Given the description of an element on the screen output the (x, y) to click on. 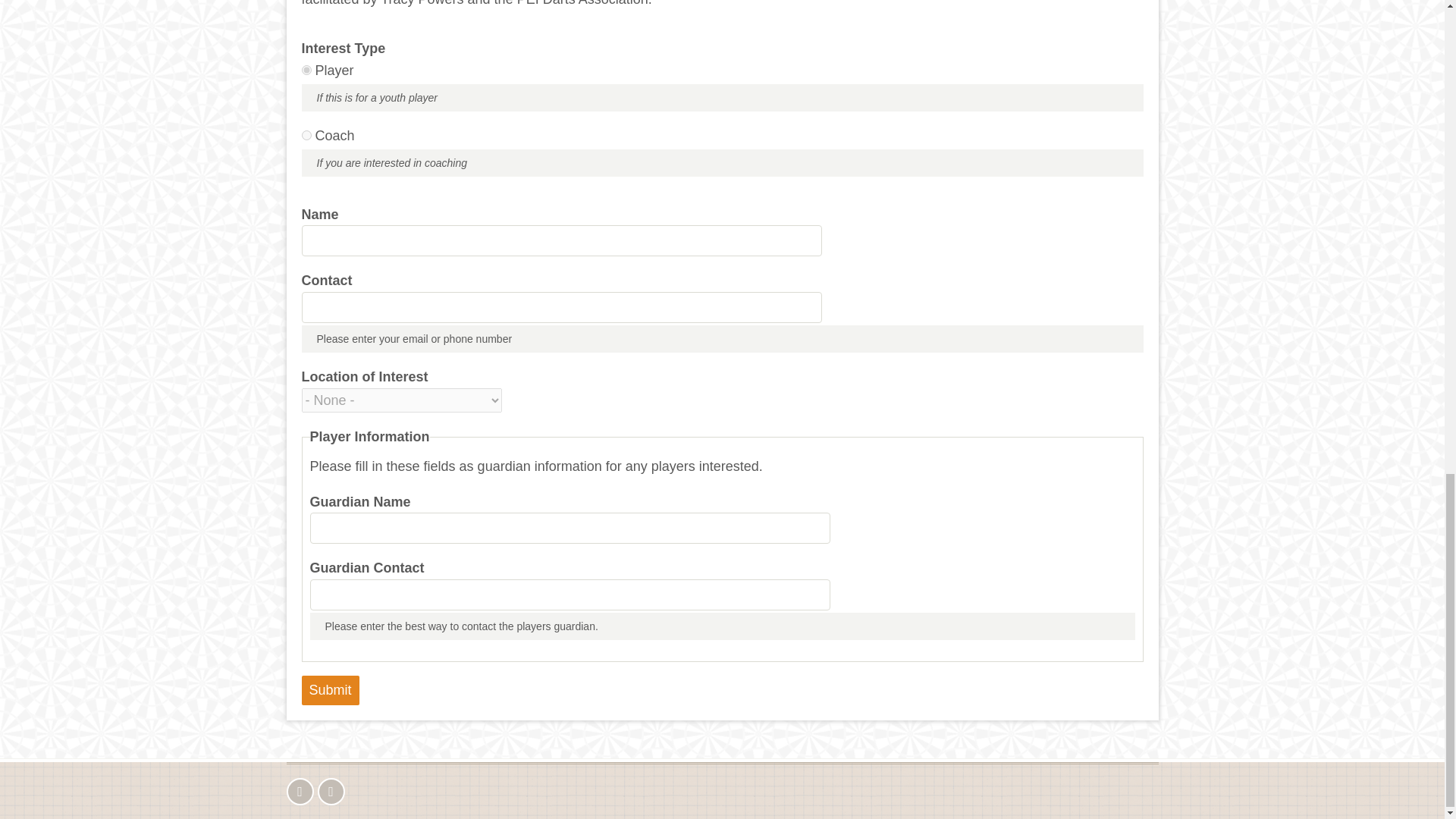
Submit (330, 690)
Submit (330, 690)
Coach (306, 135)
Player (306, 70)
